Given the description of an element on the screen output the (x, y) to click on. 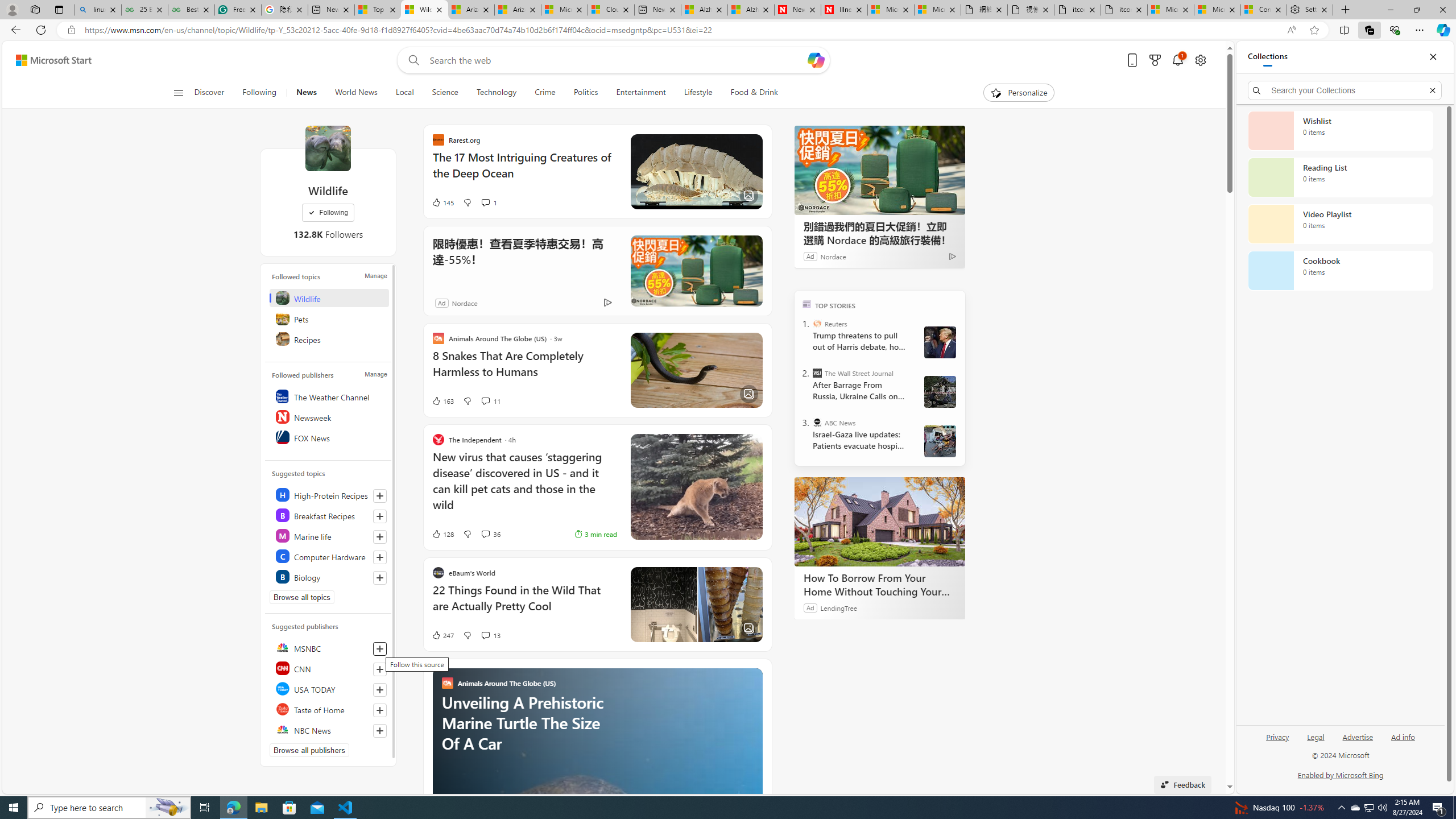
Illness news & latest pictures from Newsweek.com (844, 9)
View comments 13 Comment (490, 635)
Pets (328, 318)
Wildlife (327, 148)
Newsweek - News, Analysis, Politics, Business, Technology (797, 9)
